Given the description of an element on the screen output the (x, y) to click on. 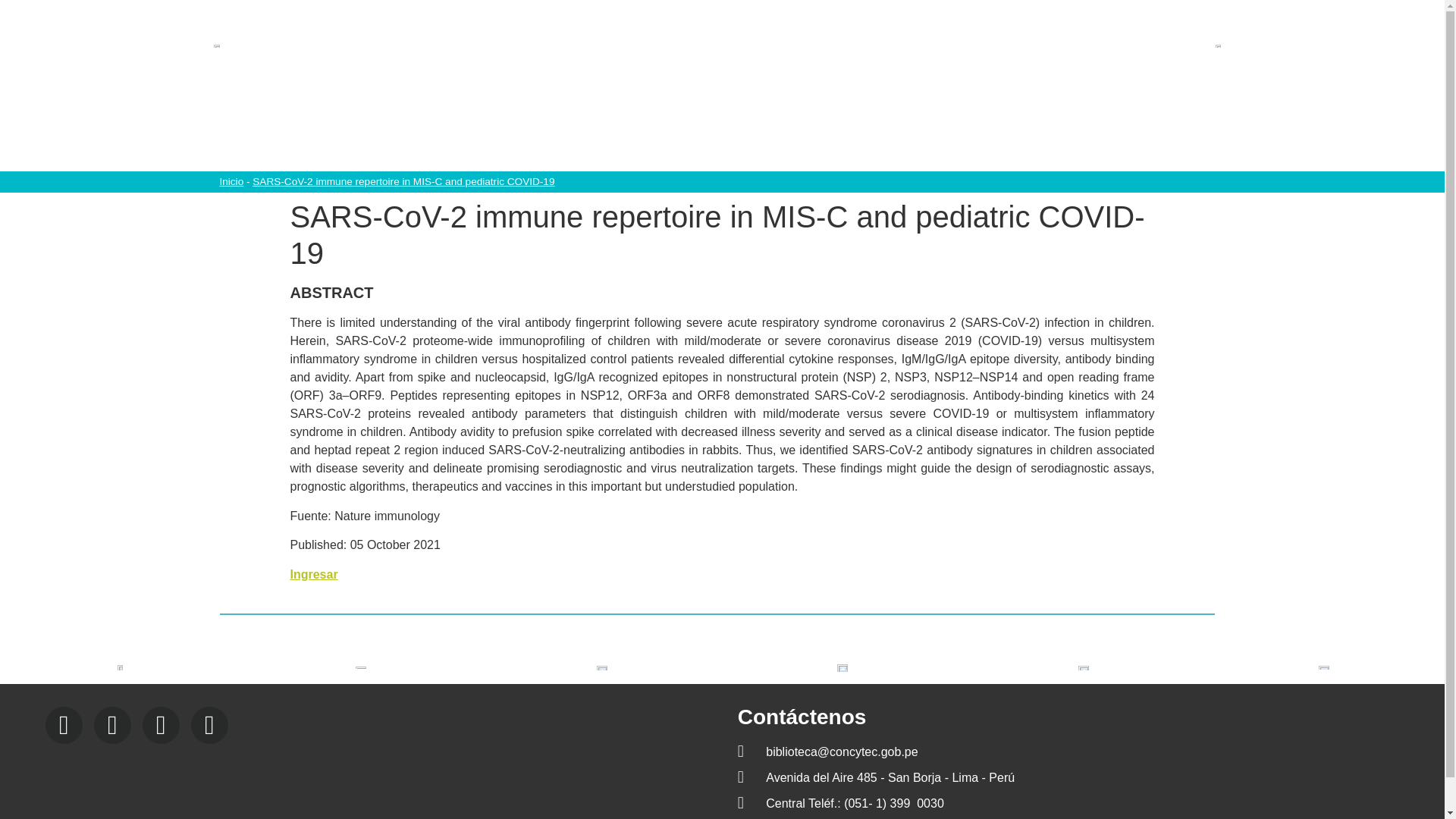
Inicio (456, 130)
Revistas (977, 130)
Colecciones (627, 130)
Acerca de (531, 130)
Ingresar (313, 574)
Inicio (231, 181)
Capacitaciones (737, 130)
